Given the description of an element on the screen output the (x, y) to click on. 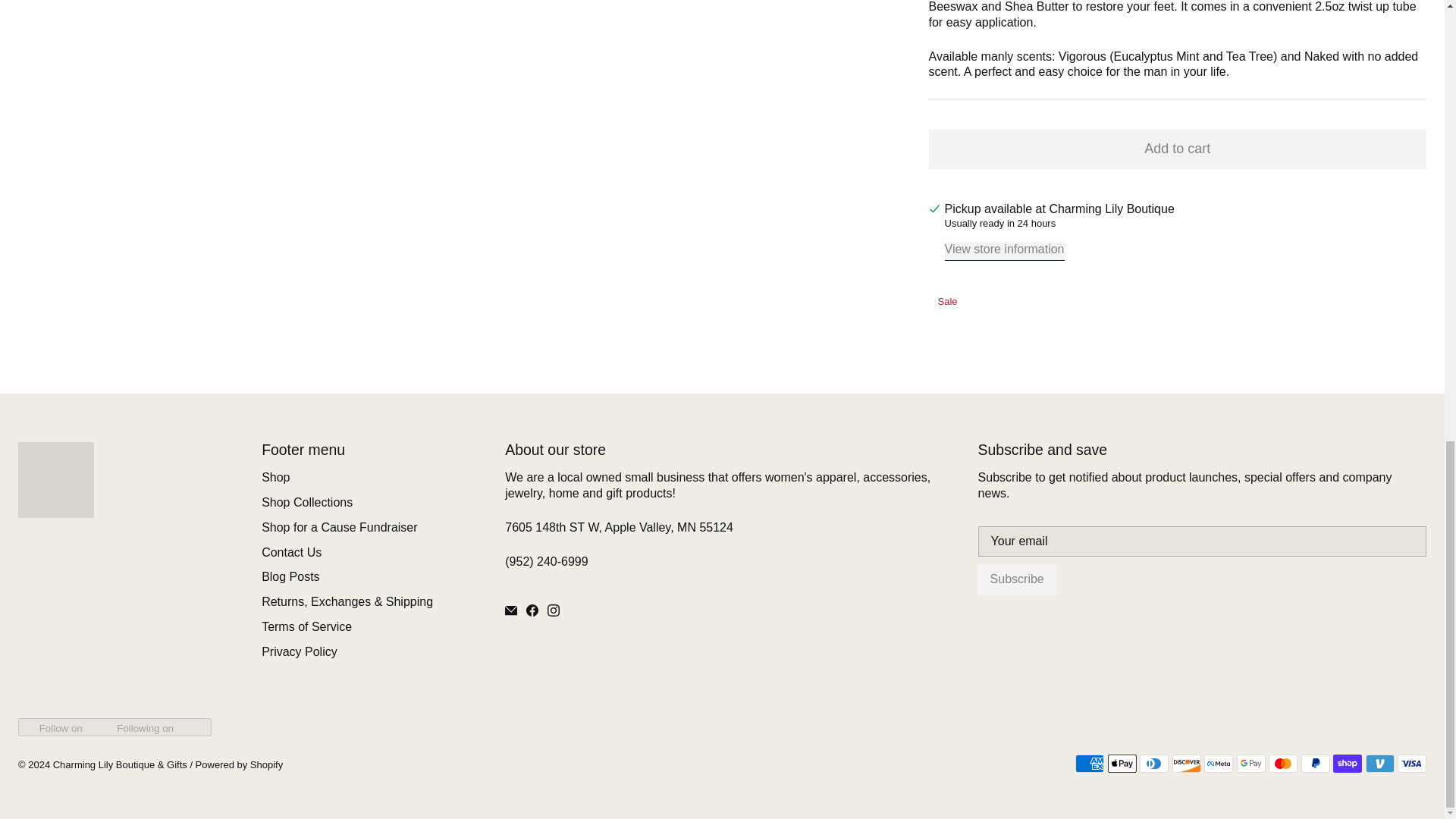
Meta Pay (1218, 763)
Diners Club (1154, 763)
Venmo (1379, 763)
Discover (1186, 763)
Google Pay (1250, 763)
PayPal (1315, 763)
American Express (1089, 763)
Mastercard (1282, 763)
Apple Pay (1122, 763)
Shop Pay (1347, 763)
